Given the description of an element on the screen output the (x, y) to click on. 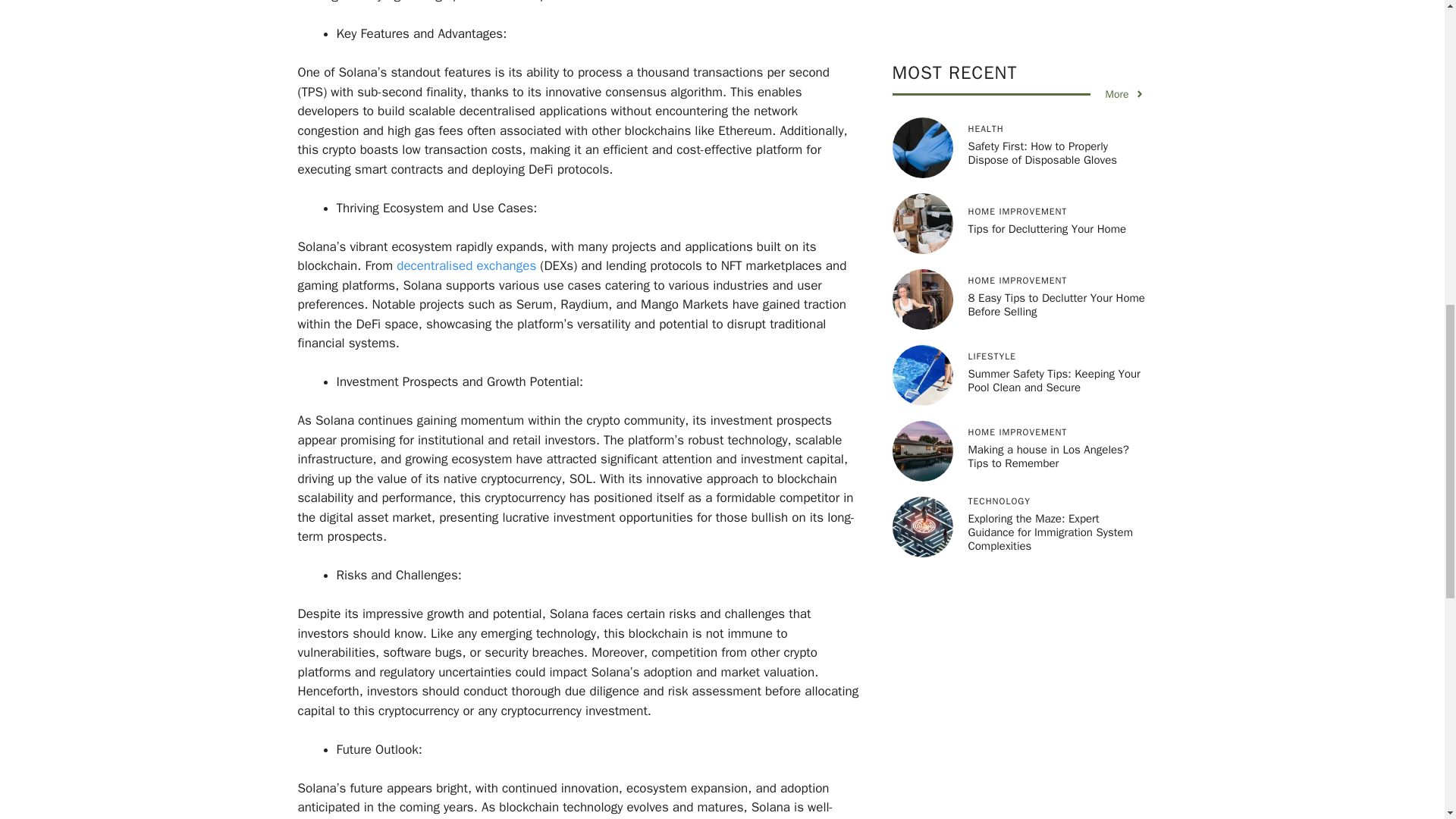
Summer Safety Tips: Keeping Your Pool Clean and Secure (1054, 4)
decentralised exchanges (464, 265)
Making a house in Los Angeles? Tips to Remember (1048, 71)
